Given the description of an element on the screen output the (x, y) to click on. 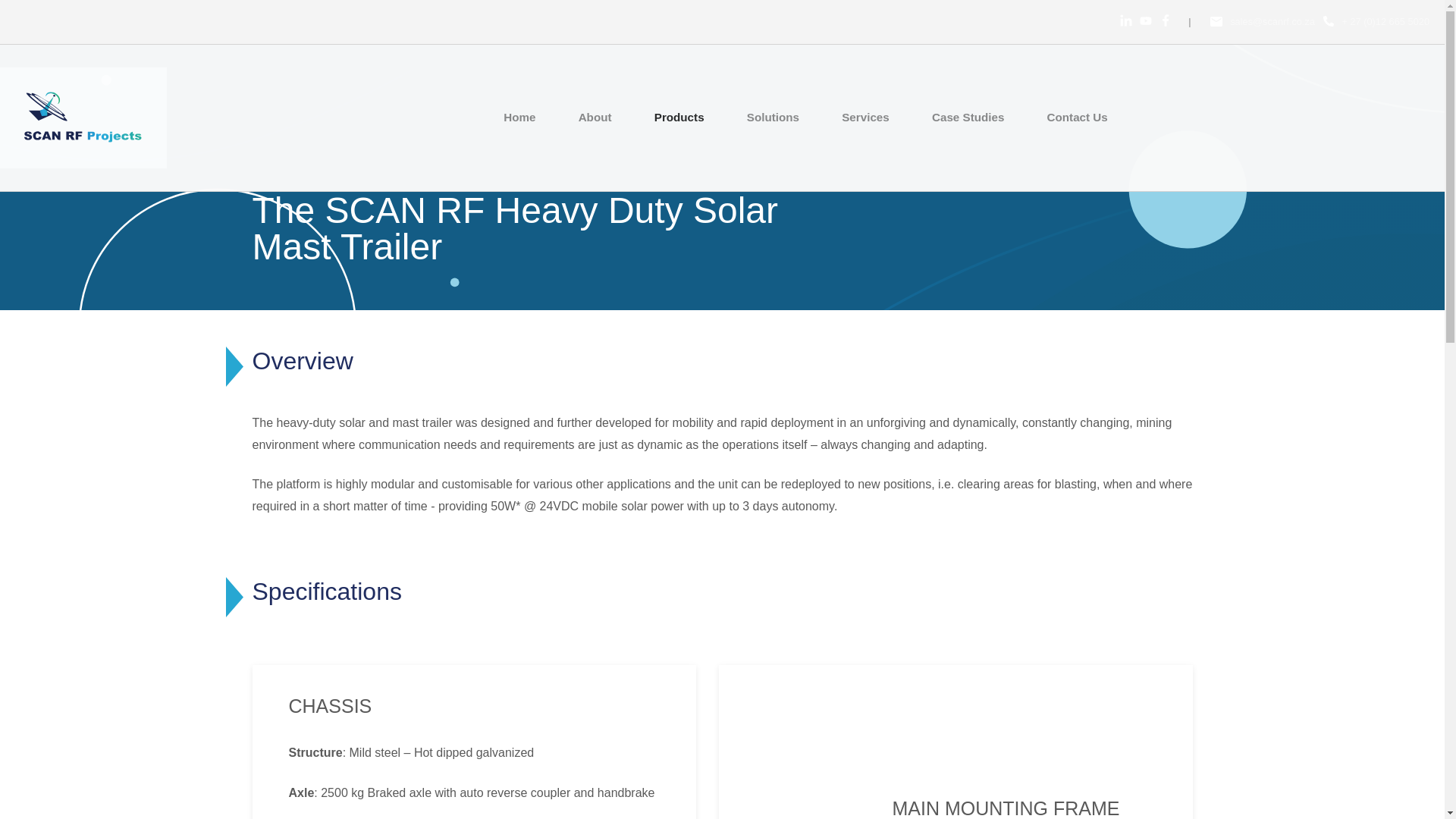
About (595, 117)
Home (518, 117)
Solutions (772, 117)
Home (82, 116)
Products (678, 117)
